Given the description of an element on the screen output the (x, y) to click on. 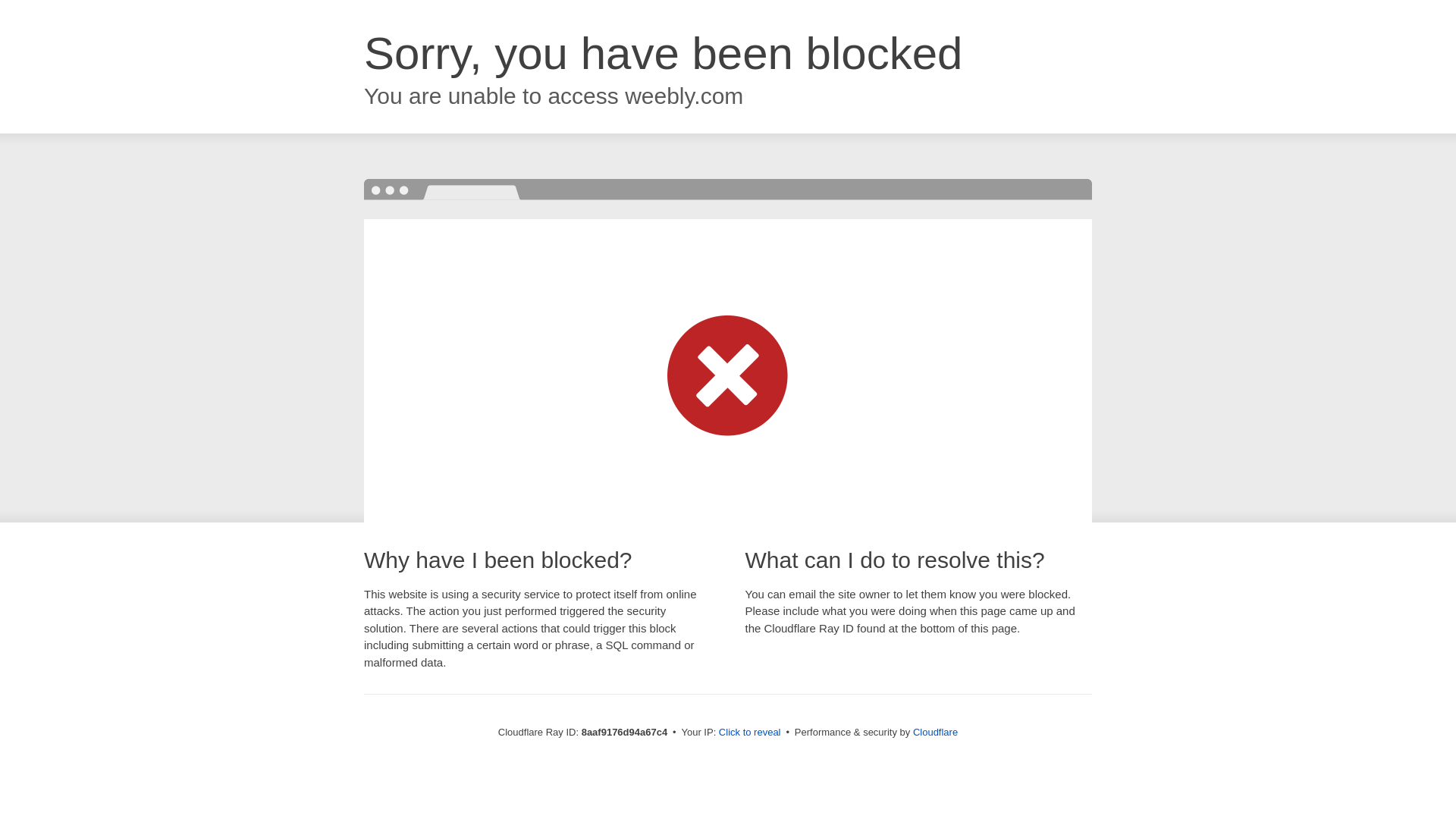
Click to reveal (749, 732)
Cloudflare (935, 731)
